Given the description of an element on the screen output the (x, y) to click on. 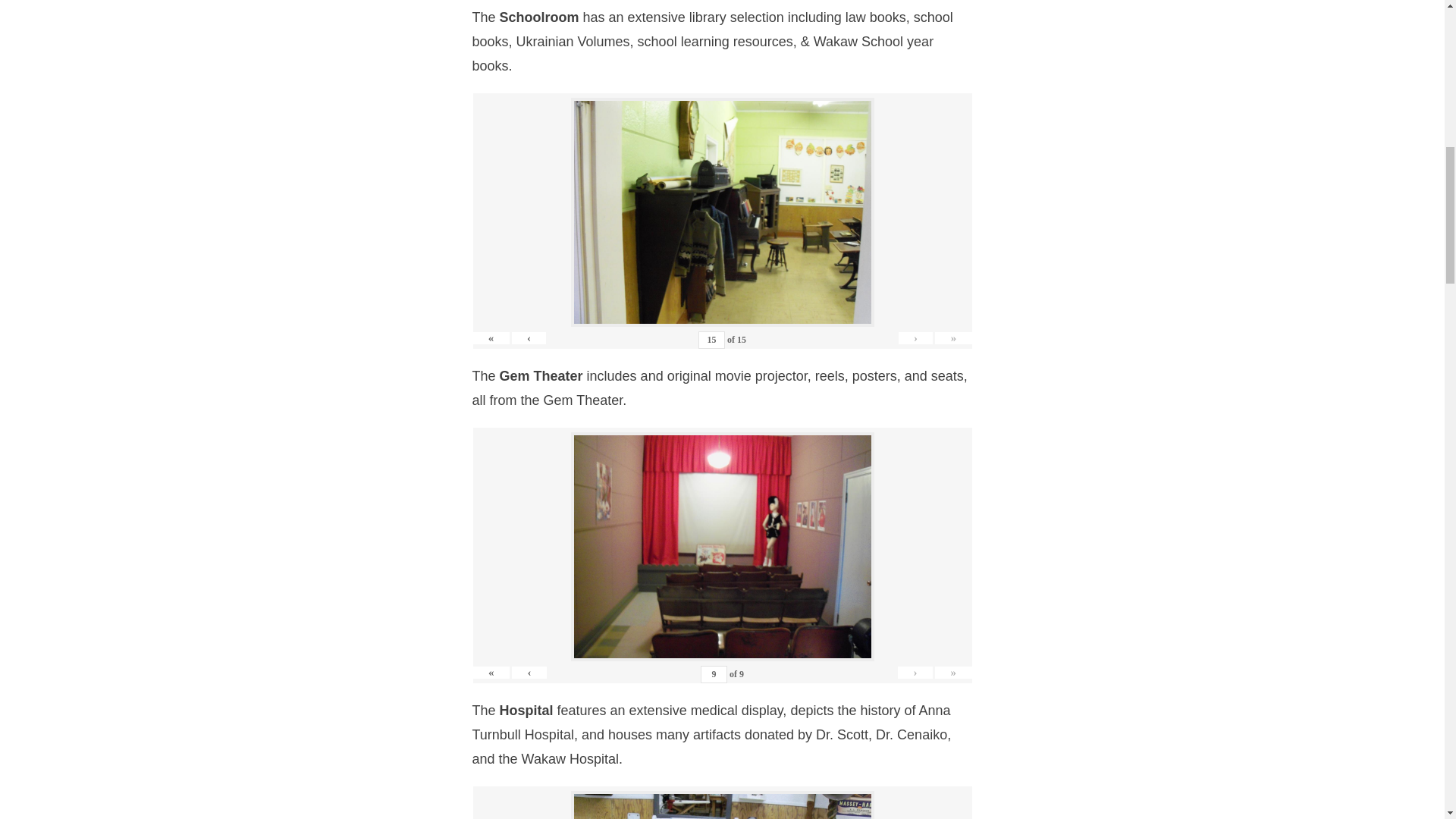
Go to the next page (915, 672)
15 (711, 339)
Go to the previous page (529, 672)
100 0581 (721, 806)
Go to the first page (491, 337)
Go to the first page (492, 672)
Go to the last page (952, 337)
Go to the last page (953, 672)
100 0679 (721, 546)
100 0637 (721, 211)
9 (713, 674)
Go to the next page (915, 337)
Go to the previous page (529, 337)
